Given the description of an element on the screen output the (x, y) to click on. 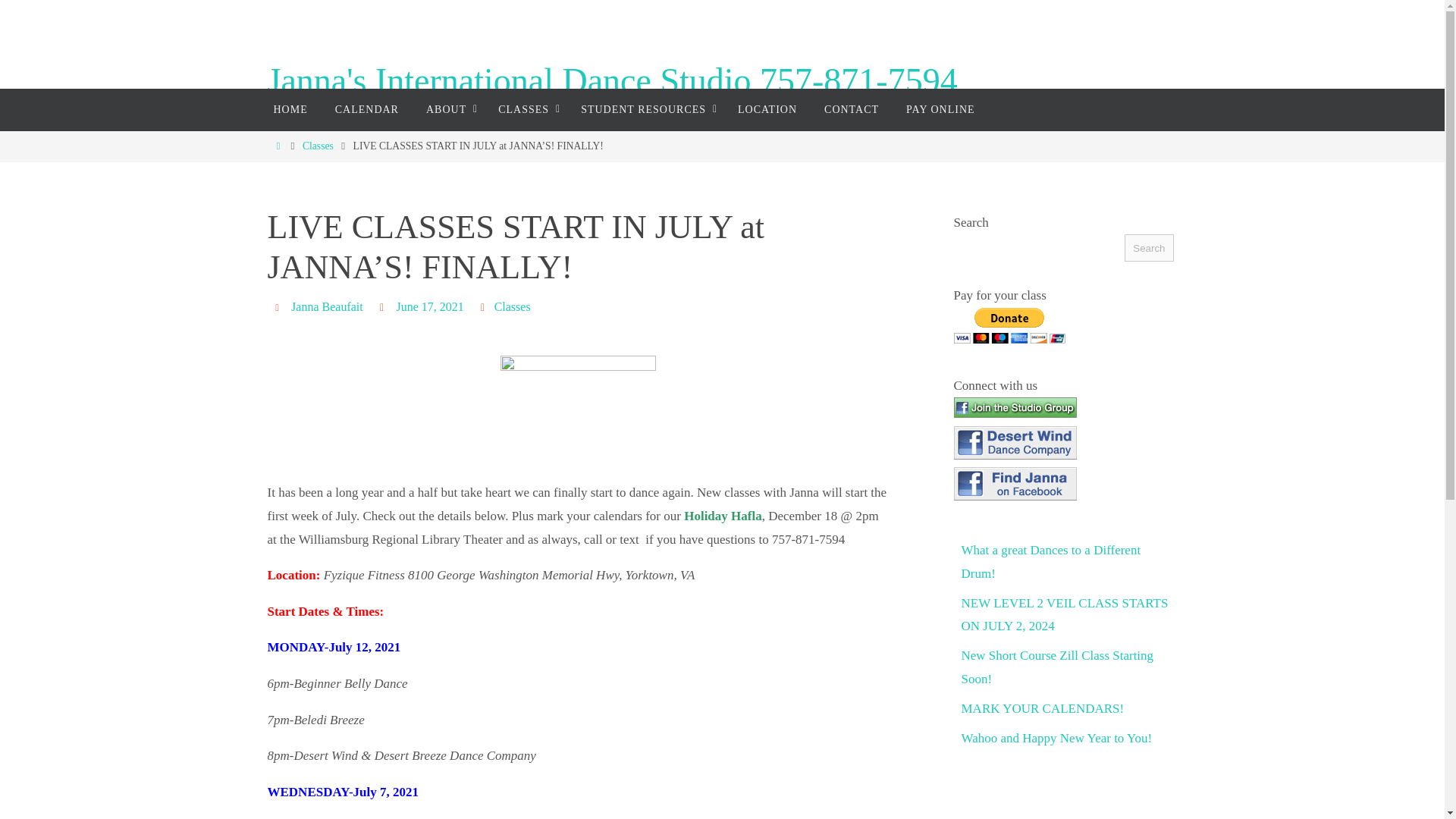
View all posts by Janna Beaufait (326, 306)
CALENDAR (366, 109)
ABOUT (448, 109)
Pay Online (940, 109)
MARK YOUR CALENDARS! (1042, 708)
Author  (278, 306)
What a great Dances to a Different Drum! (1050, 561)
Janna's International Dance Studio 757-871-7594 (611, 81)
Wahoo and Happy New Year to You! (1056, 738)
CONTACT (851, 109)
Classes (513, 306)
Classes (317, 145)
STUDENT RESOURCES (645, 109)
Date (383, 306)
PayPal - The safer, easier way to pay online! (1009, 325)
